Given the description of an element on the screen output the (x, y) to click on. 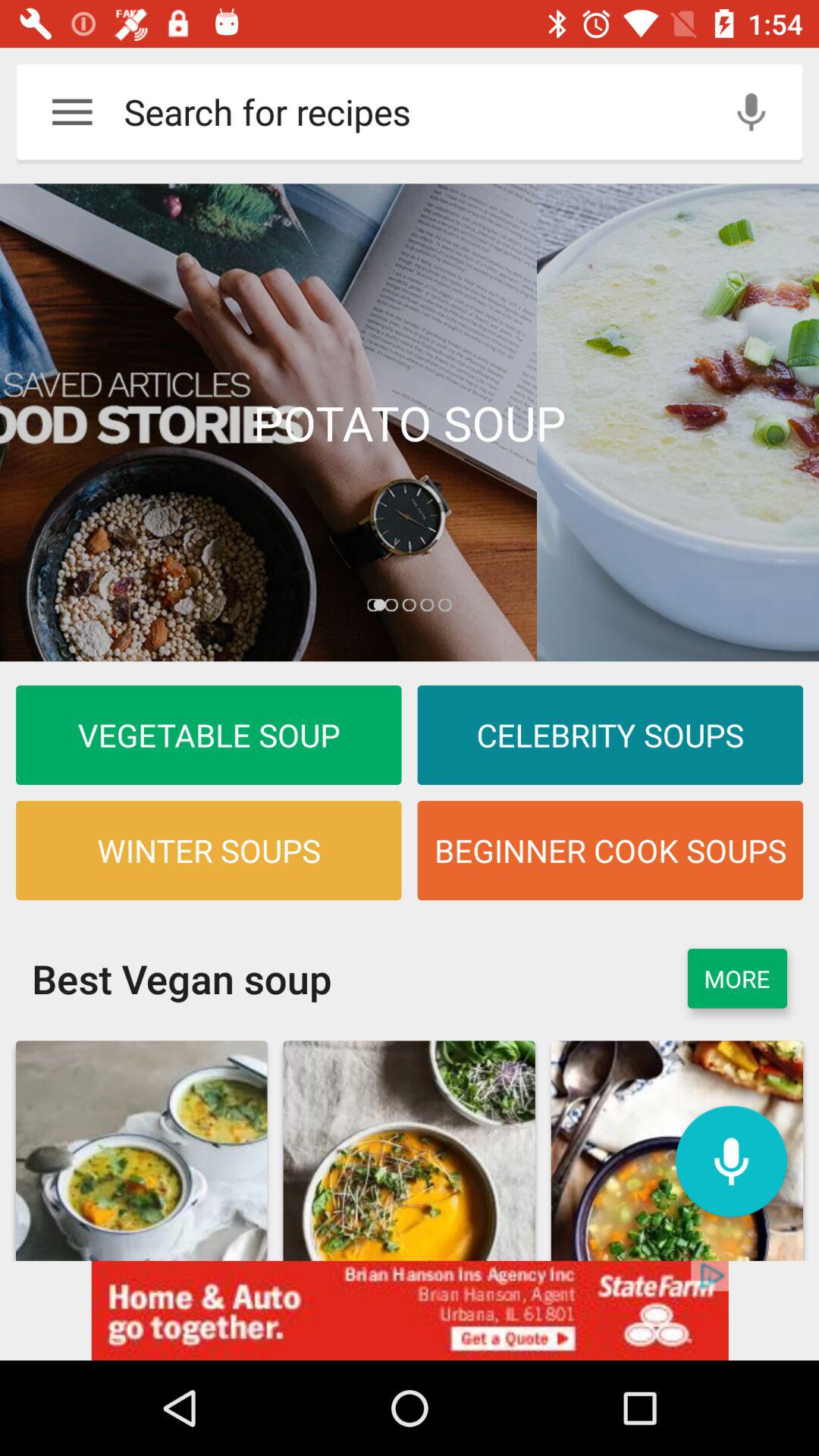
voice input button (751, 111)
